Given the description of an element on the screen output the (x, y) to click on. 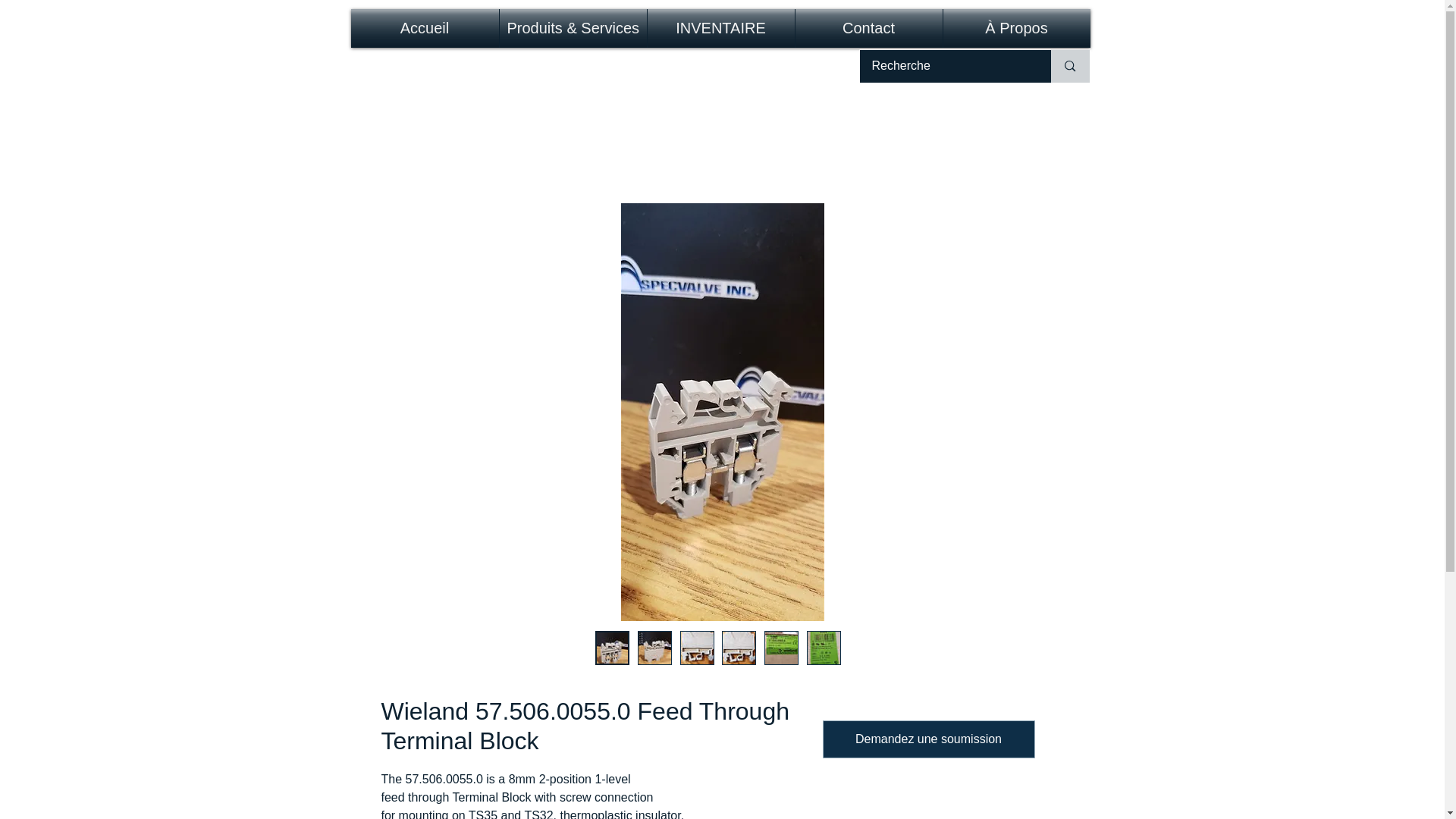
Demandez une soumission (927, 739)
Accueil (423, 28)
Contact (868, 28)
INVENTAIRE (720, 28)
